Given the description of an element on the screen output the (x, y) to click on. 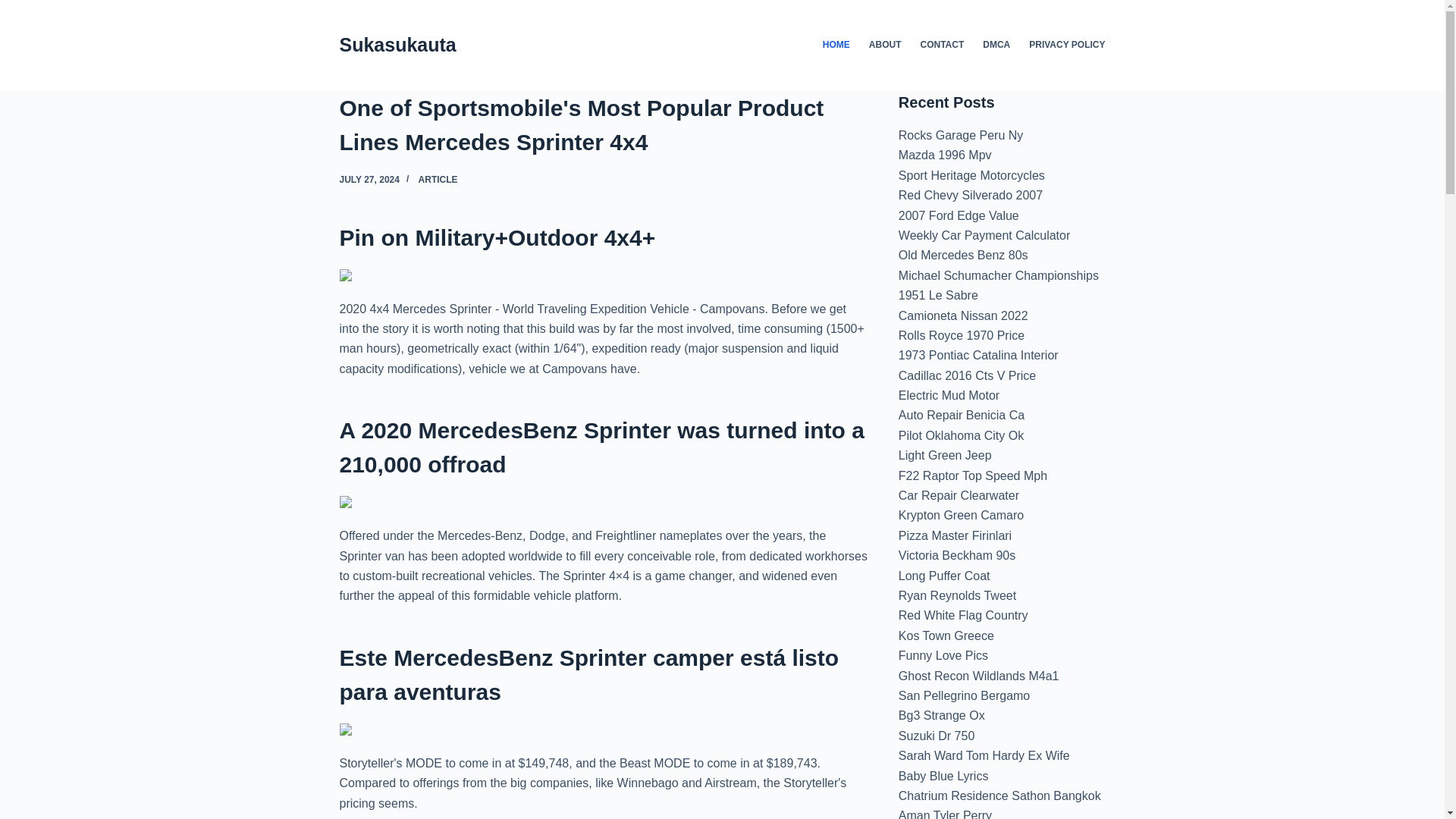
ABOUT (885, 45)
PRIVACY POLICY (1062, 45)
Victoria Beckham 90s (956, 554)
1951 Le Sabre (938, 295)
ARTICLE (438, 179)
Old Mercedes Benz 80s (962, 254)
Light Green Jeep (944, 454)
Camioneta Nissan 2022 (962, 315)
Pizza Master Firinlari (954, 535)
Car Repair Clearwater (958, 495)
Cadillac 2016 Cts V Price (966, 375)
Rolls Royce 1970 Price (961, 335)
Ryan Reynolds Tweet (957, 594)
Kos Town Greece (946, 635)
